Given the description of an element on the screen output the (x, y) to click on. 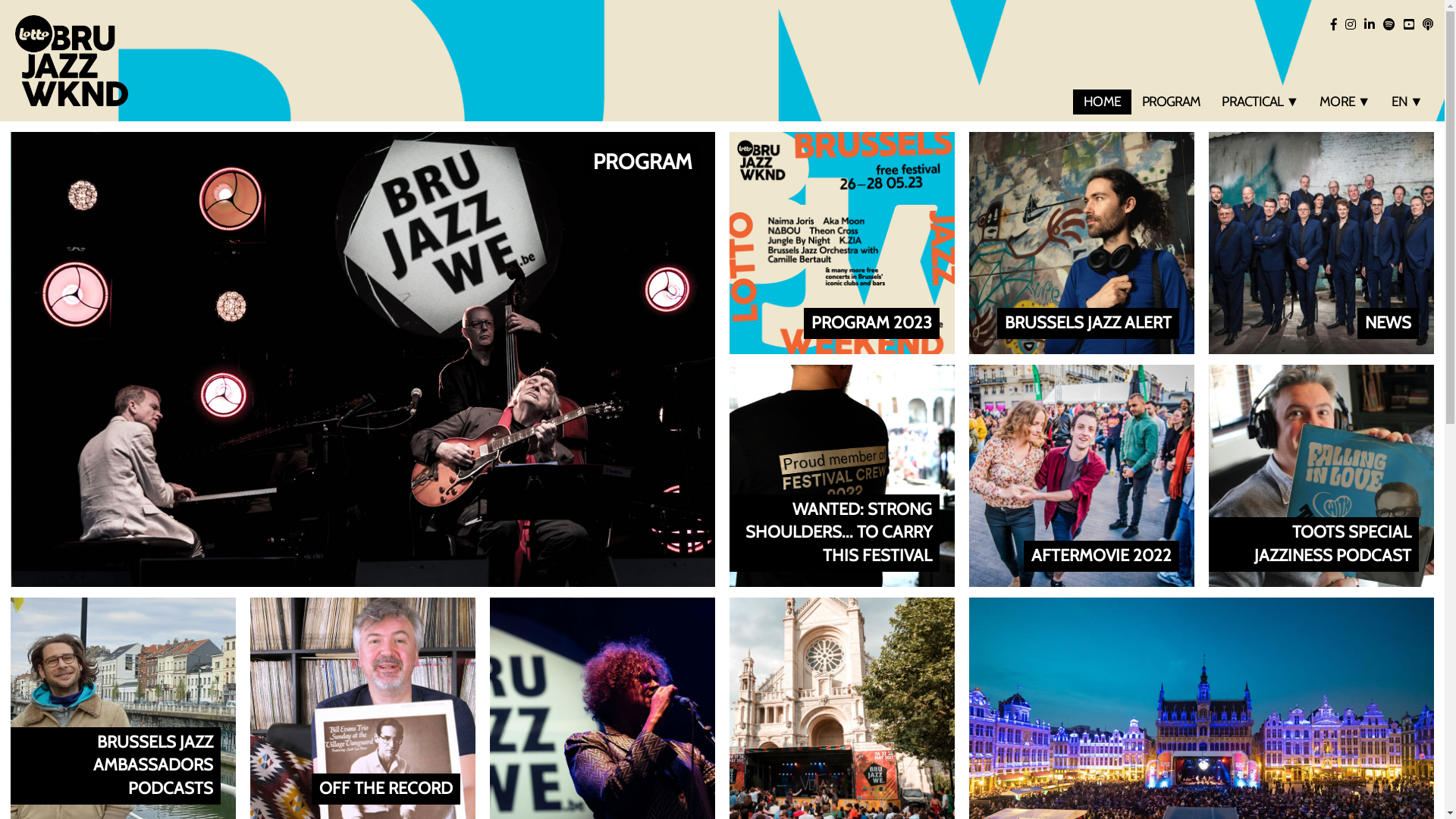
PROGRAM Element type: text (362, 358)
PROGRAM Element type: text (1171, 101)
WANTED: STRONG SHOULDERS... TO CARRY THIS FESTIVAL Element type: text (841, 475)
AFTERMOVIE 2022 Element type: text (1081, 475)
HOME Element type: text (1101, 101)
BRUSSELS JAZZ ALERT Element type: text (1081, 242)
BRU JAZZ WE - Brussels Jazz Weekend Element type: hover (71, 60)
PROGRAM 2023 Element type: text (841, 242)
TOOTS SPECIAL JAZZINESS PODCAST Element type: text (1321, 475)
NEWS Element type: text (1321, 242)
